Given the description of an element on the screen output the (x, y) to click on. 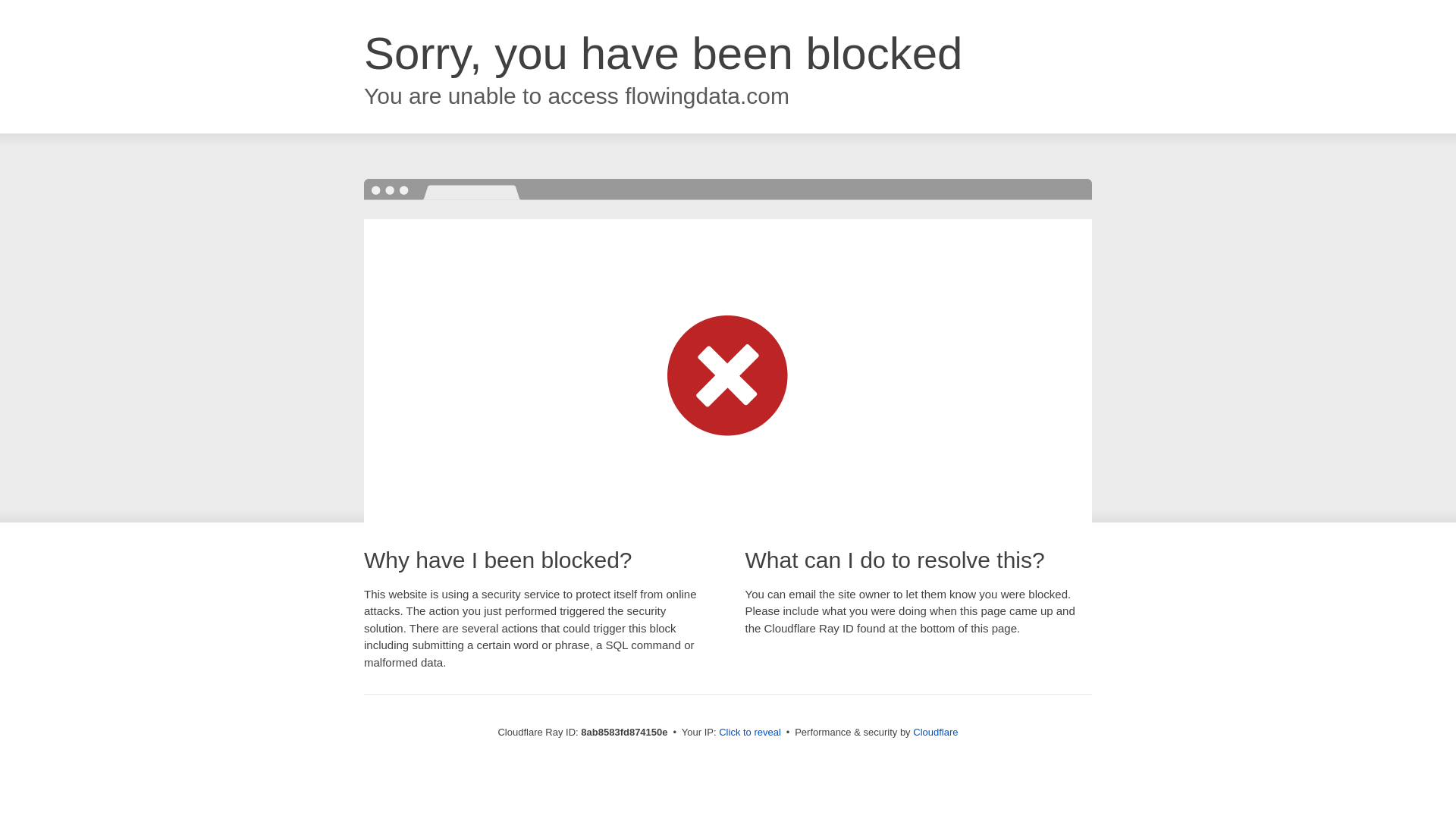
Cloudflare (935, 731)
Click to reveal (749, 732)
